Given the description of an element on the screen output the (x, y) to click on. 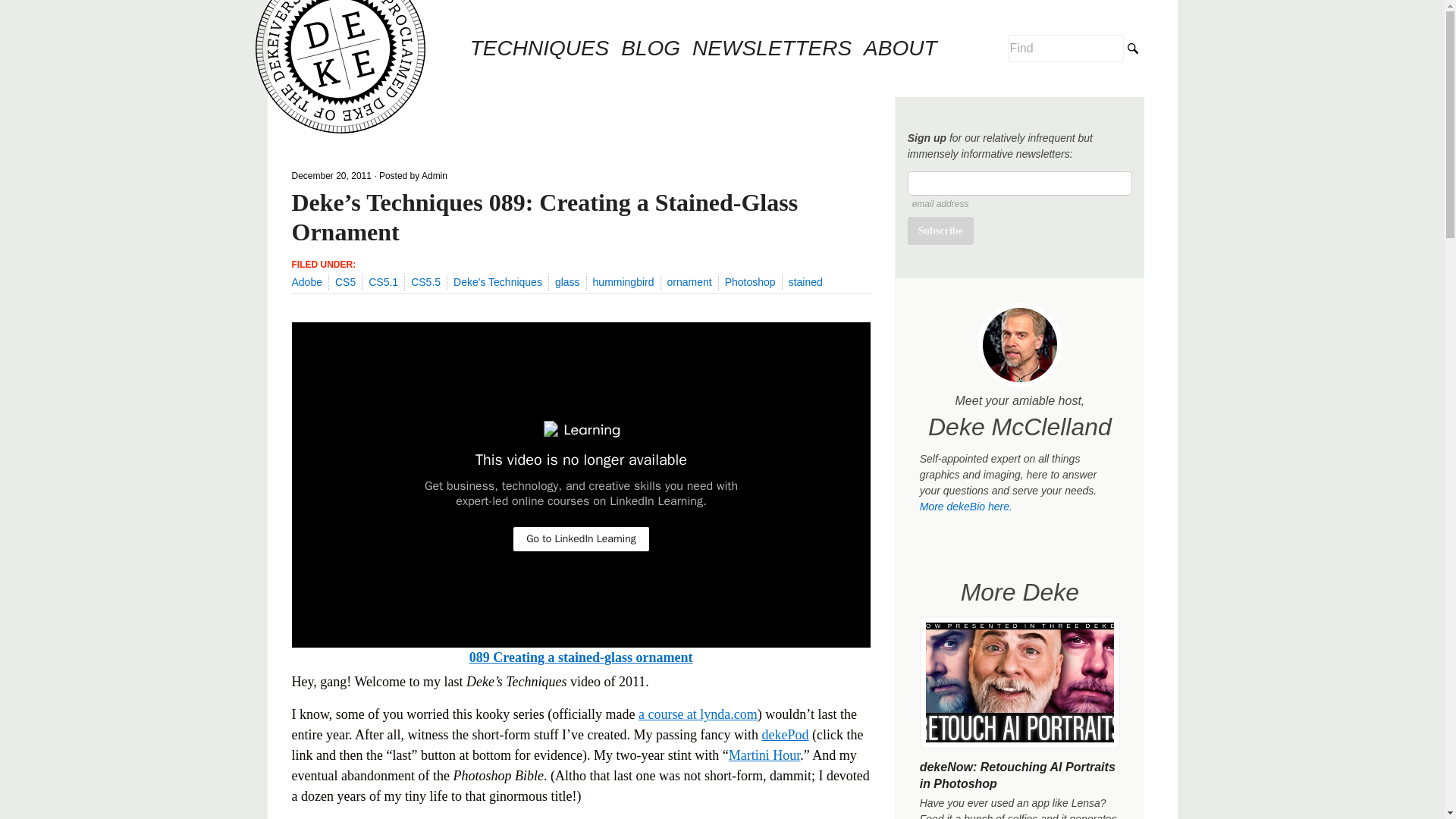
CS5 (344, 282)
Martini Hour (764, 754)
Deke's Techniques (496, 282)
dekePod (784, 734)
TECHNIQUES (540, 48)
a course at lynda.com (698, 713)
stained (805, 282)
hummingbird (622, 282)
CS5.5 (425, 282)
Photoshop (750, 282)
089 Creating a stained-glass ornament (580, 657)
Subscribe (940, 230)
ornament (688, 282)
CS5.1 (382, 282)
dekeNow: Retouching AI Portraits in Photoshop (1017, 775)
